Given the description of an element on the screen output the (x, y) to click on. 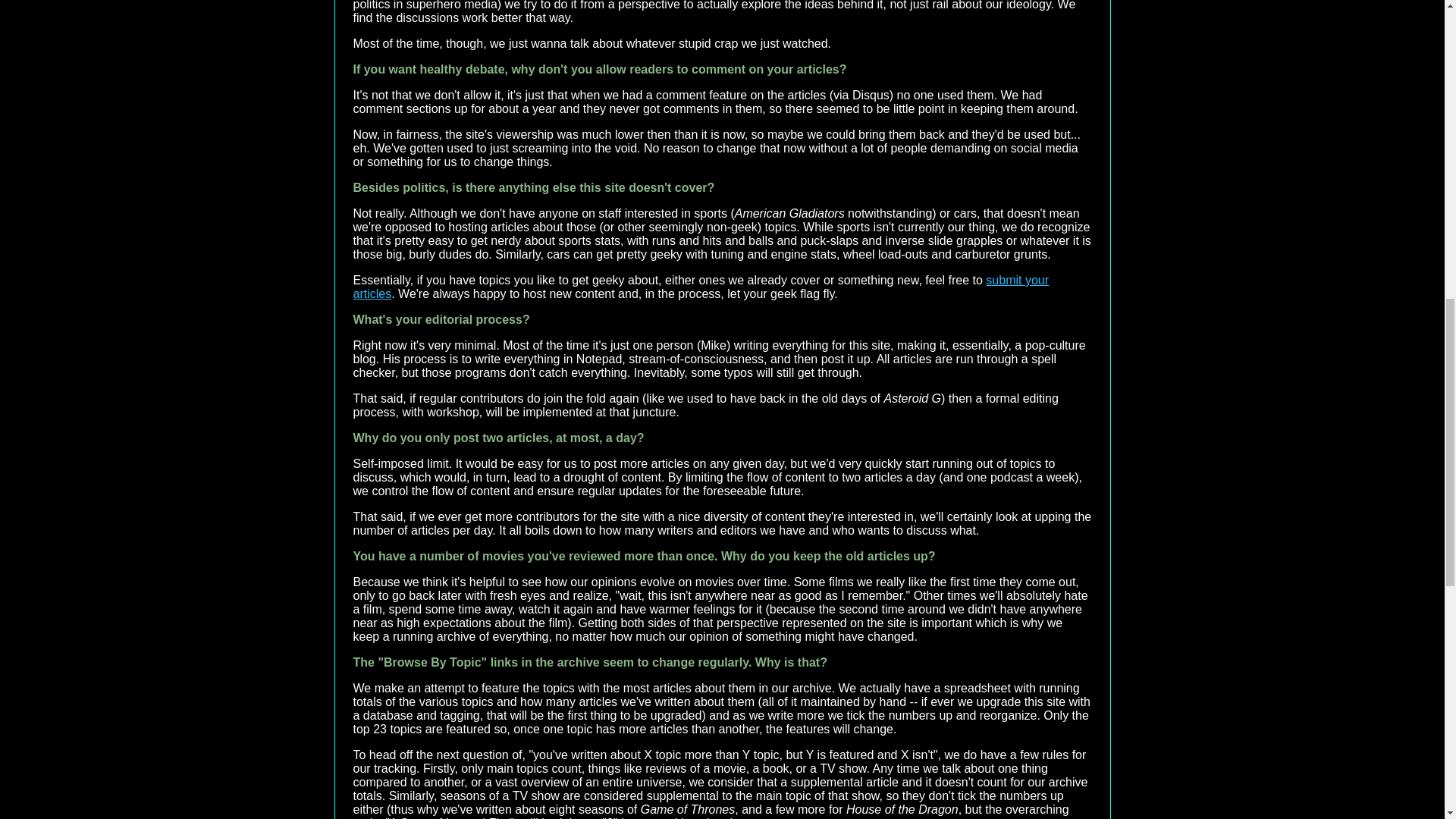
submit your articles (701, 286)
